Given the description of an element on the screen output the (x, y) to click on. 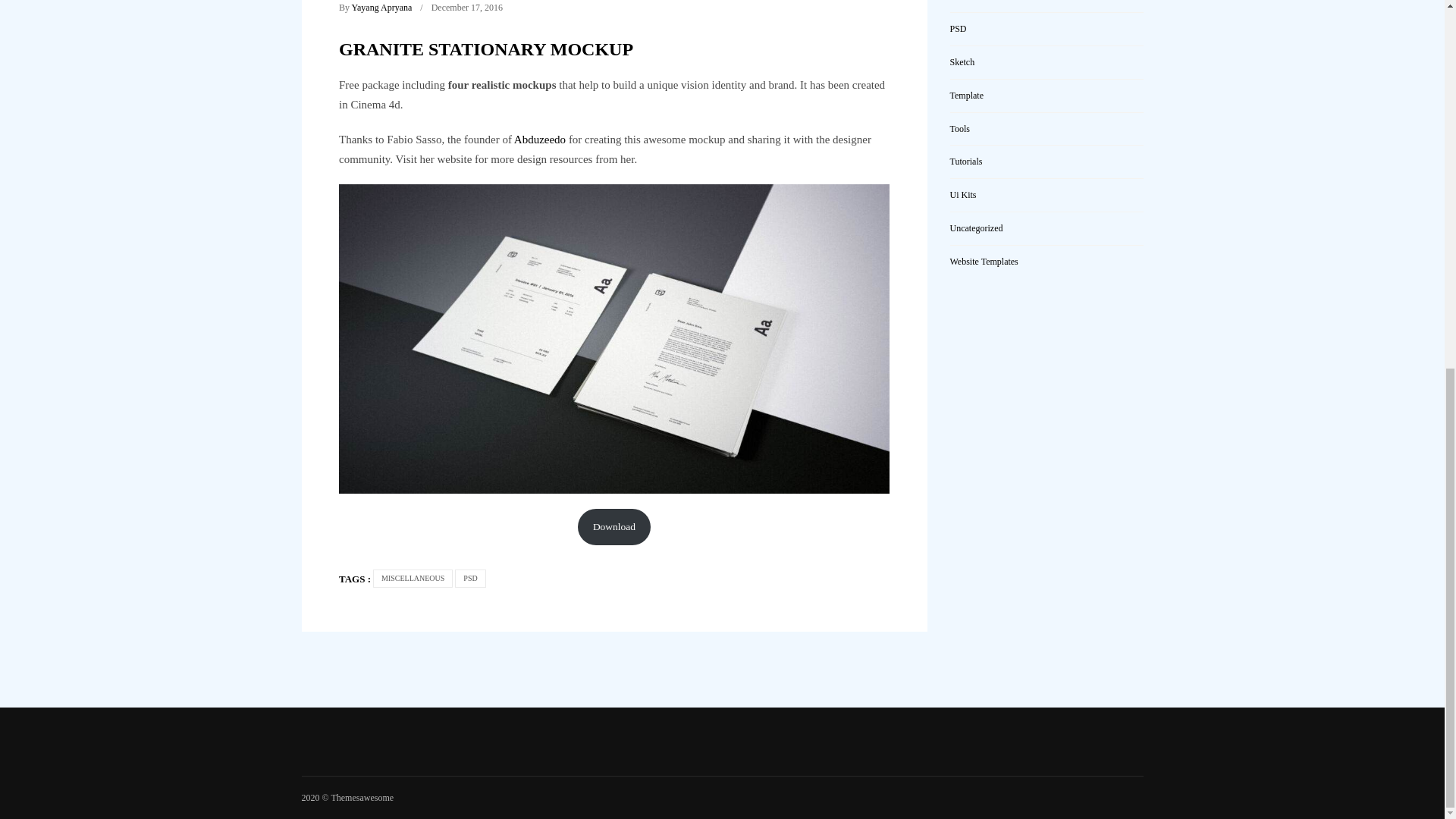
Tools (959, 128)
Tutorials (965, 161)
Template (965, 95)
Download (614, 526)
Sketch (961, 61)
PSD (957, 28)
Uncategorized (976, 227)
Ui Kits (962, 194)
Website Templates (983, 261)
Yayang Apryana (382, 7)
